Given the description of an element on the screen output the (x, y) to click on. 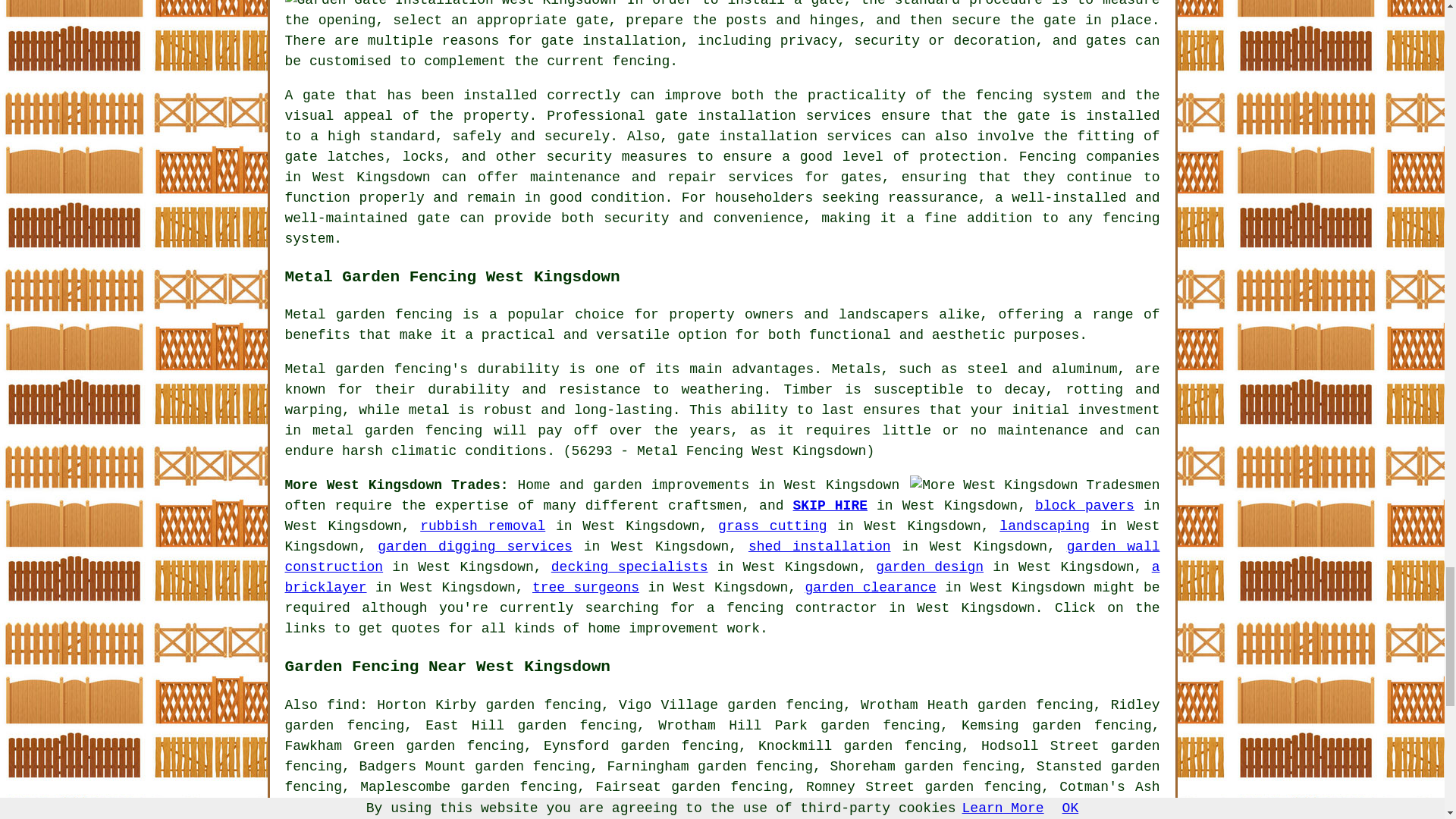
More West Kingsdown Tradesmen (1034, 485)
gate installation services (762, 115)
garden (617, 485)
Garden Gate Installation West Kingsdown (450, 5)
fencing (1080, 807)
